Given the description of an element on the screen output the (x, y) to click on. 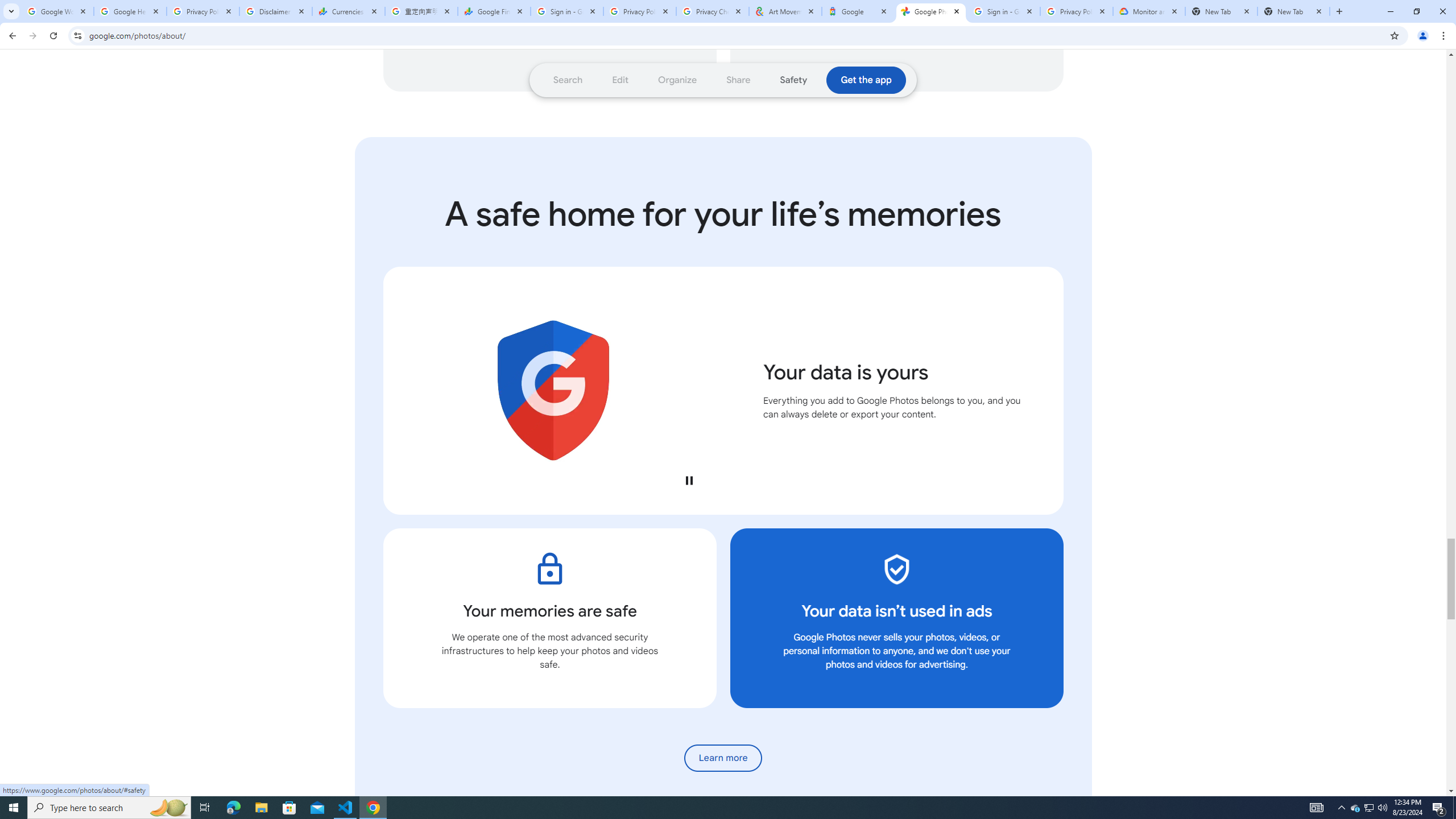
Sign in - Google Accounts (1003, 11)
Go to section: Safety (793, 80)
Go to section: Search (567, 80)
